Given the description of an element on the screen output the (x, y) to click on. 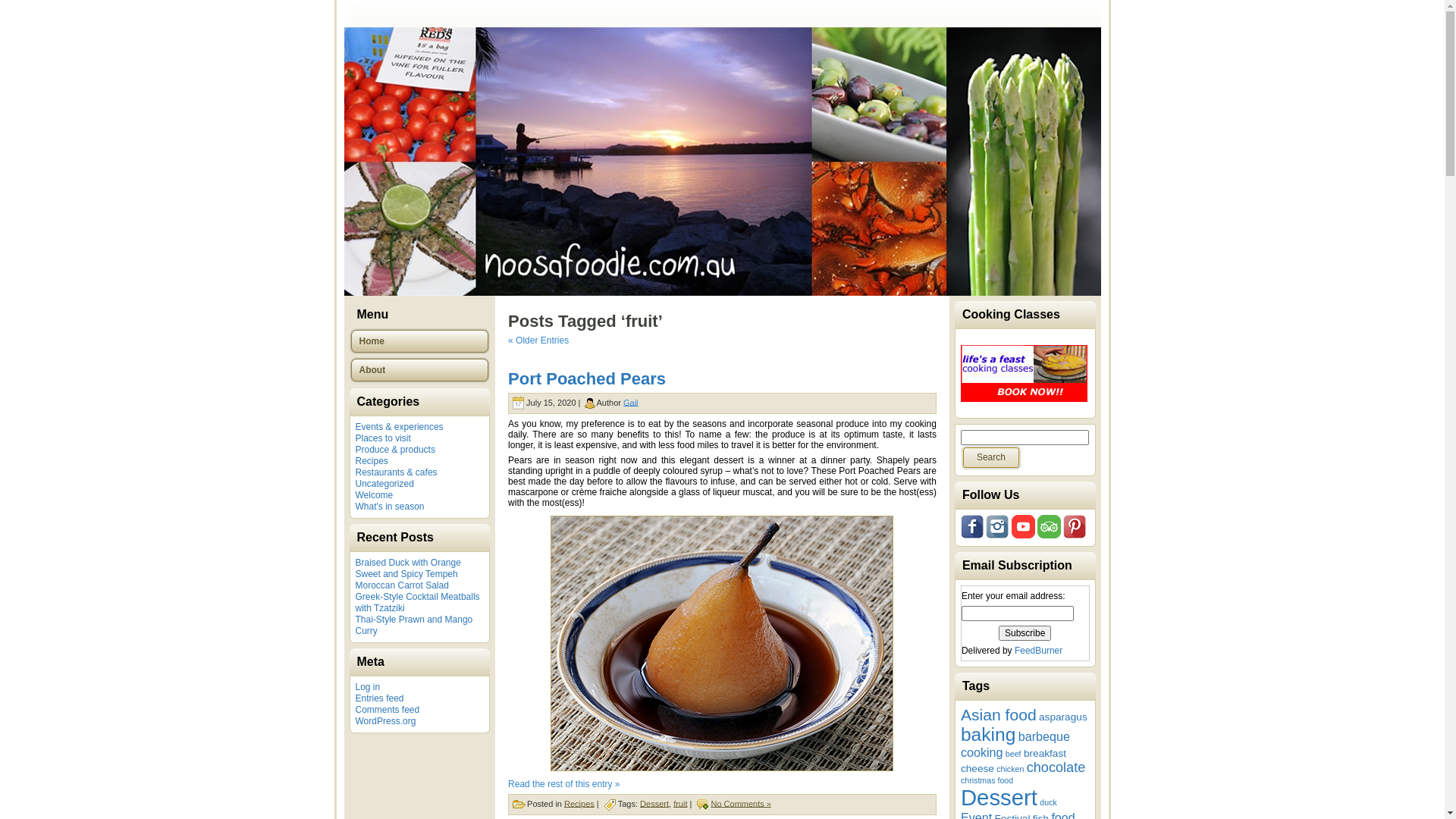
beef Element type: text (1013, 753)
Sweet and Spicy Tempeh Element type: text (405, 573)
Braised Duck with Orange Element type: text (407, 562)
WordPress.org Element type: text (384, 720)
Produce & products Element type: text (394, 449)
Thai-Style Prawn and Mango Curry Element type: text (413, 625)
Search Element type: text (990, 457)
cheese Element type: text (977, 768)
Dessert Element type: text (654, 802)
Home Element type: text (418, 341)
Asian food Element type: text (998, 714)
About Element type: text (418, 369)
Subscribe Element type: text (1024, 632)
barbeque cooking Element type: text (1015, 744)
asparagus Element type: text (1062, 716)
Port Poached Pears Element type: text (586, 378)
Log in Element type: text (366, 686)
What's in season Element type: text (388, 506)
chicken Element type: text (1009, 768)
christmas food Element type: text (986, 779)
Uncategorized Element type: text (383, 483)
Moroccan Carrot Salad Element type: text (401, 585)
breakfast Element type: text (1044, 753)
Comments feed Element type: text (386, 709)
Recipes Element type: text (579, 802)
chocolate Element type: text (1055, 767)
Events & experiences Element type: text (398, 426)
Greek-Style Cocktail Meatballs with Tzatziki Element type: text (416, 602)
baking Element type: text (987, 734)
Restaurants & cafes Element type: text (395, 472)
Entries feed Element type: text (378, 698)
FeedBurner Element type: text (1038, 650)
Places to visit Element type: text (382, 438)
Dessert Element type: text (998, 796)
duck Element type: text (1048, 801)
Recipes Element type: text (370, 460)
Welcome Element type: text (373, 494)
fruit Element type: text (680, 802)
Gail Element type: text (630, 401)
